Given the description of an element on the screen output the (x, y) to click on. 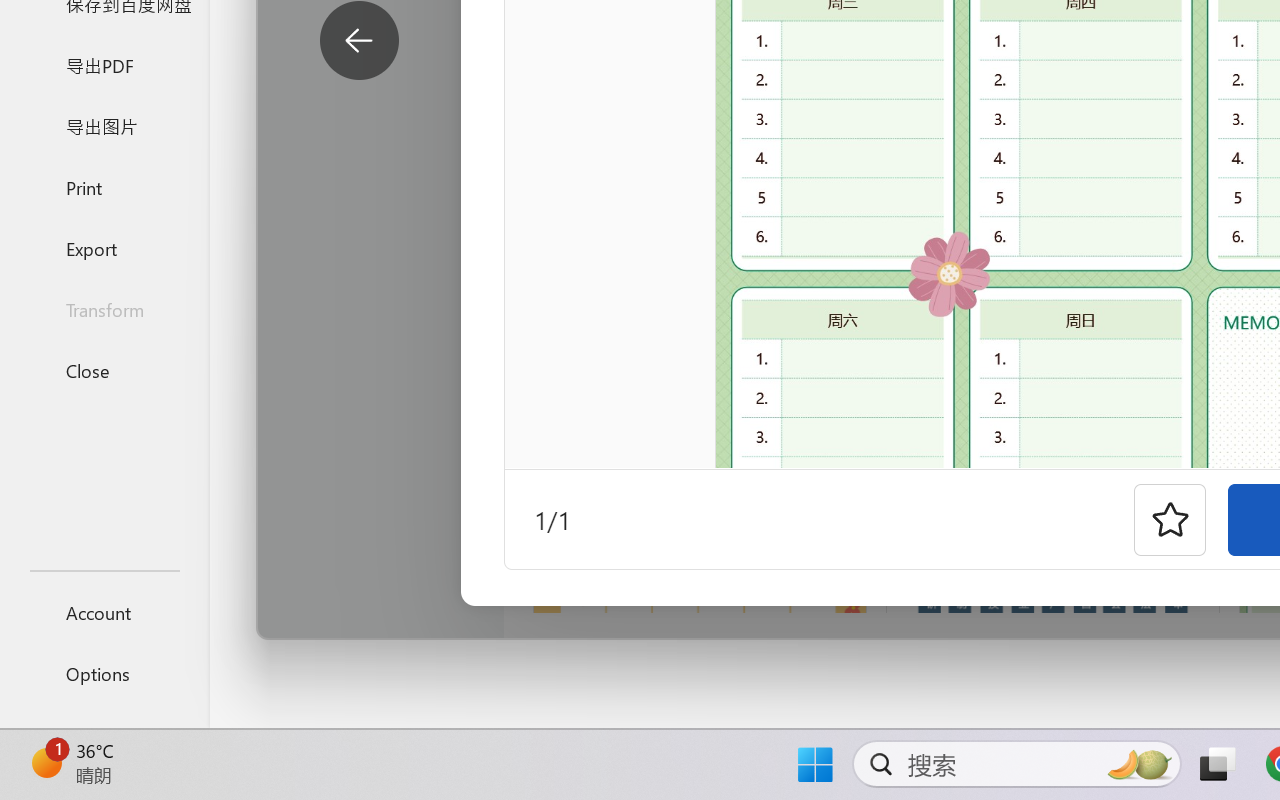
Print (104, 186)
